Given the description of an element on the screen output the (x, y) to click on. 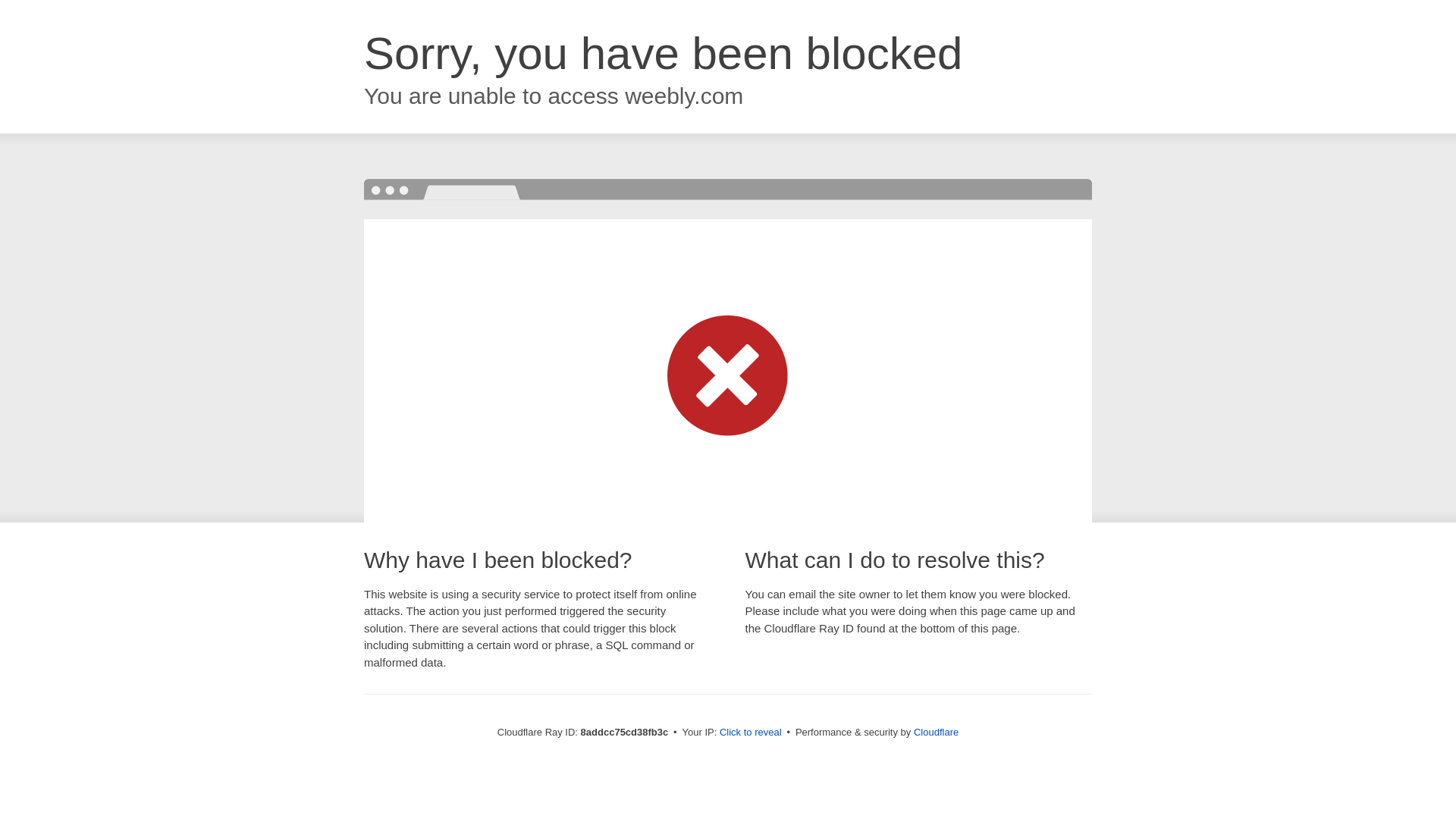
Cloudflare (936, 731)
Click to reveal (750, 732)
